Given the description of an element on the screen output the (x, y) to click on. 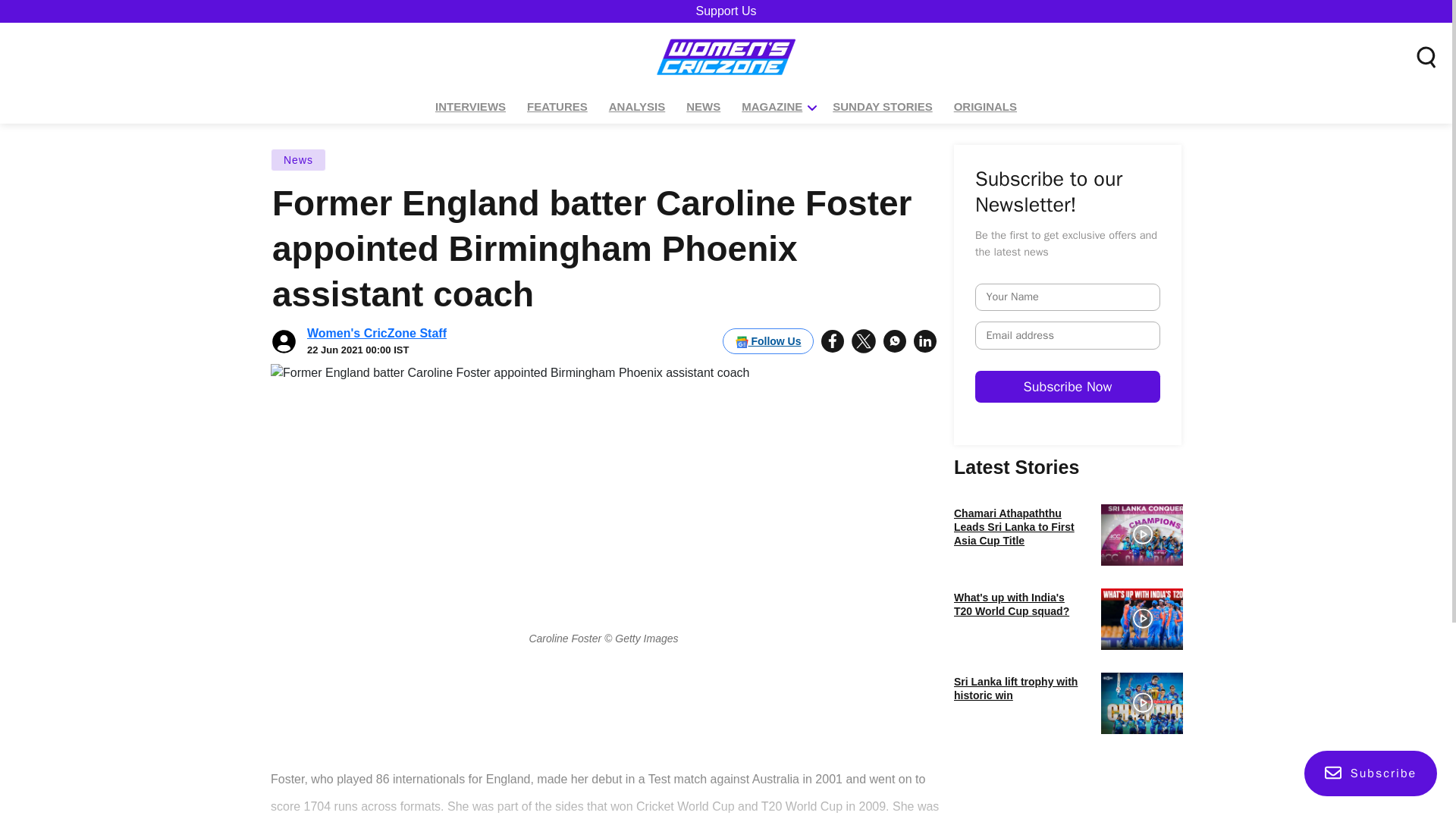
NEWS (703, 106)
Women's CricZone Staff (376, 332)
ORIGINALS (985, 106)
Follow Us (767, 340)
News (298, 159)
MAGAZINE (772, 106)
INTERVIEWS (470, 106)
FEATURES (556, 106)
ANALYSIS (636, 106)
SUNDAY STORIES (882, 106)
